Given the description of an element on the screen output the (x, y) to click on. 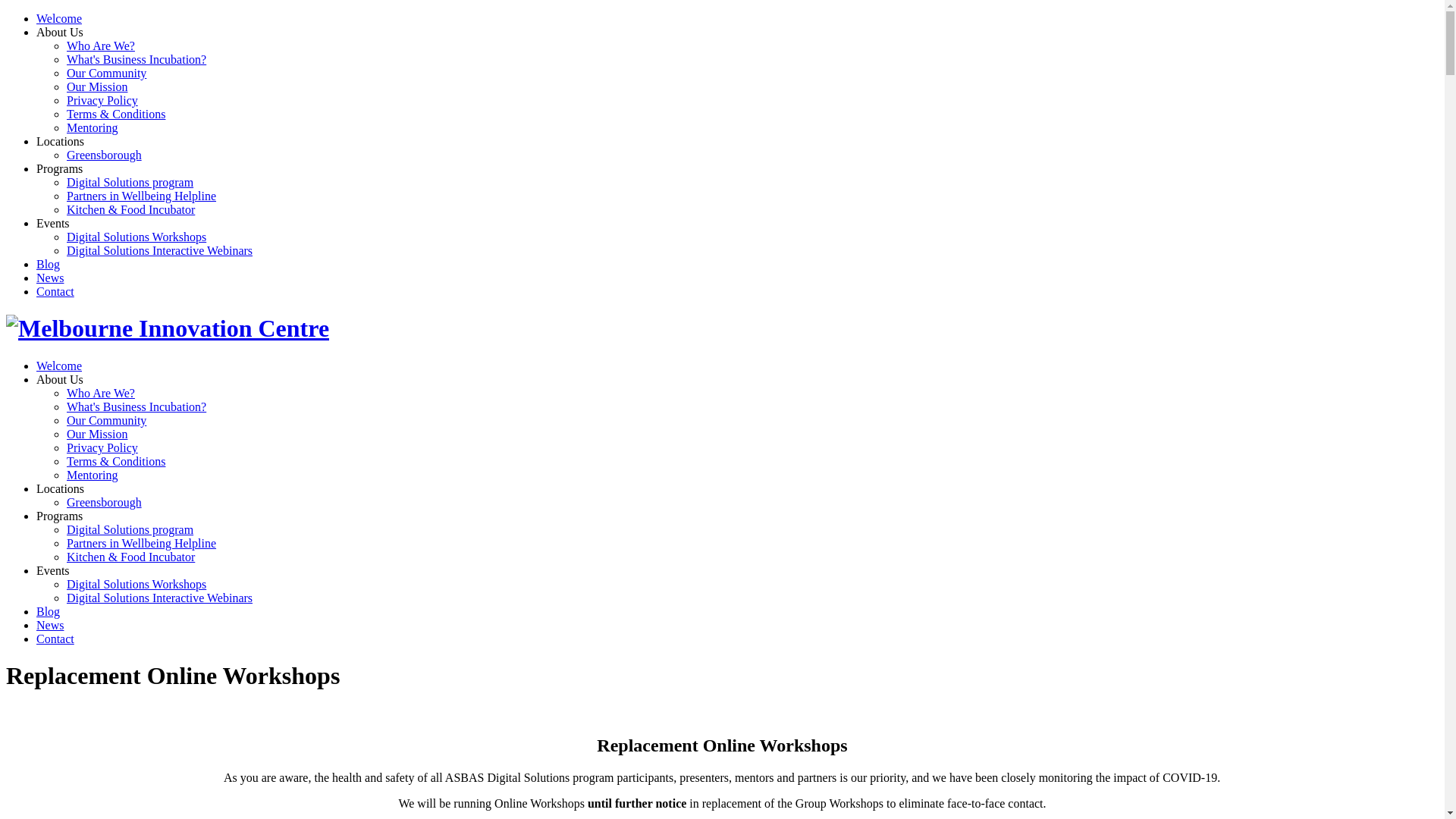
Digital Solutions program Element type: text (129, 181)
Who Are We? Element type: text (100, 392)
Events Element type: text (52, 222)
Contact Element type: text (55, 638)
Our Community Element type: text (106, 420)
Mentoring Element type: text (92, 474)
Programs Element type: text (59, 168)
Locations Element type: text (60, 140)
Terms & Conditions Element type: text (115, 113)
Digital Solutions Interactive Webinars Element type: text (159, 597)
Terms & Conditions Element type: text (115, 461)
Events Element type: text (52, 570)
Mentoring Element type: text (92, 127)
Digital Solutions program Element type: text (129, 529)
Who Are We? Element type: text (100, 45)
Privacy Policy Element type: text (102, 447)
Partners in Wellbeing Helpline Element type: text (141, 542)
News Element type: text (49, 624)
Blog Element type: text (47, 611)
Greensborough Element type: text (103, 501)
Our Mission Element type: text (96, 433)
Welcome Element type: text (58, 365)
Programs Element type: text (59, 515)
About Us Element type: text (59, 379)
Our Community Element type: text (106, 72)
Partners in Wellbeing Helpline Element type: text (141, 195)
Digital Solutions Workshops Element type: text (136, 583)
Blog Element type: text (47, 263)
Contact Element type: text (55, 291)
Digital Solutions Interactive Webinars Element type: text (159, 250)
About Us Element type: text (59, 31)
Kitchen & Food Incubator Element type: text (130, 209)
Locations Element type: text (60, 488)
What's Business Incubation? Element type: text (136, 406)
Digital Solutions Workshops Element type: text (136, 236)
Kitchen & Food Incubator Element type: text (130, 556)
Welcome Element type: text (58, 18)
News Element type: text (49, 277)
What's Business Incubation? Element type: text (136, 59)
Privacy Policy Element type: text (102, 100)
Our Mission Element type: text (96, 86)
Greensborough Element type: text (103, 154)
